Given the description of an element on the screen output the (x, y) to click on. 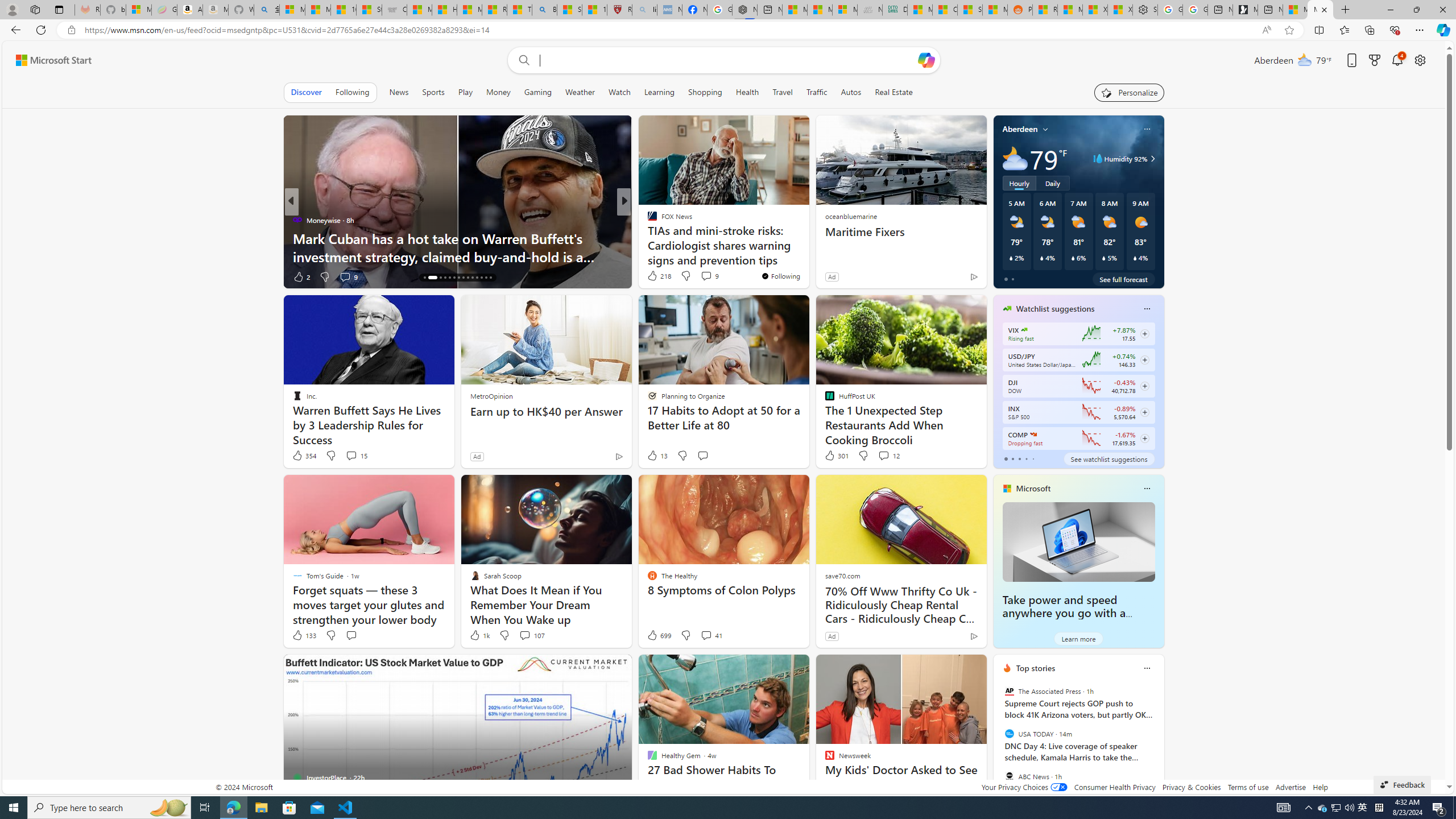
These 3 Stocks Pay You More Than 5% to Own Them (457, 256)
View comments 12 Comment (883, 455)
R******* | Trusted Community Engagement and Contributions (1044, 9)
AutomationID: tab-21 (458, 277)
Take power and speed anywhere you go with a Windows laptop. (1077, 541)
